Given the description of an element on the screen output the (x, y) to click on. 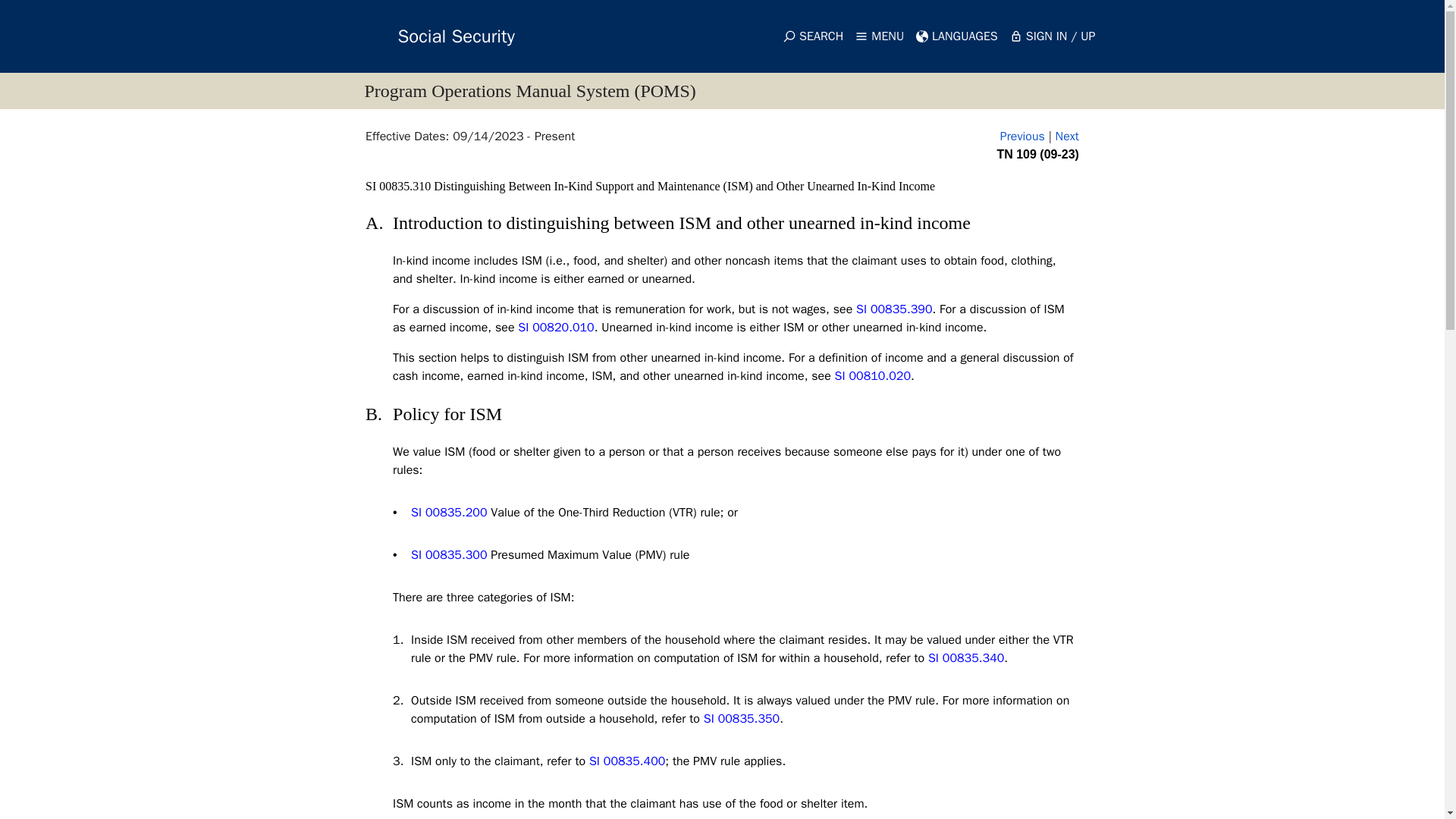
SI 00835.200 (448, 512)
Next (1066, 136)
Previous (1022, 136)
SI 00835.300 (448, 554)
SI 00835.340 (966, 657)
Next Document (1066, 136)
Languages (957, 36)
SI 00835.350 (740, 718)
SI 00820.010 (556, 327)
